Given the description of an element on the screen output the (x, y) to click on. 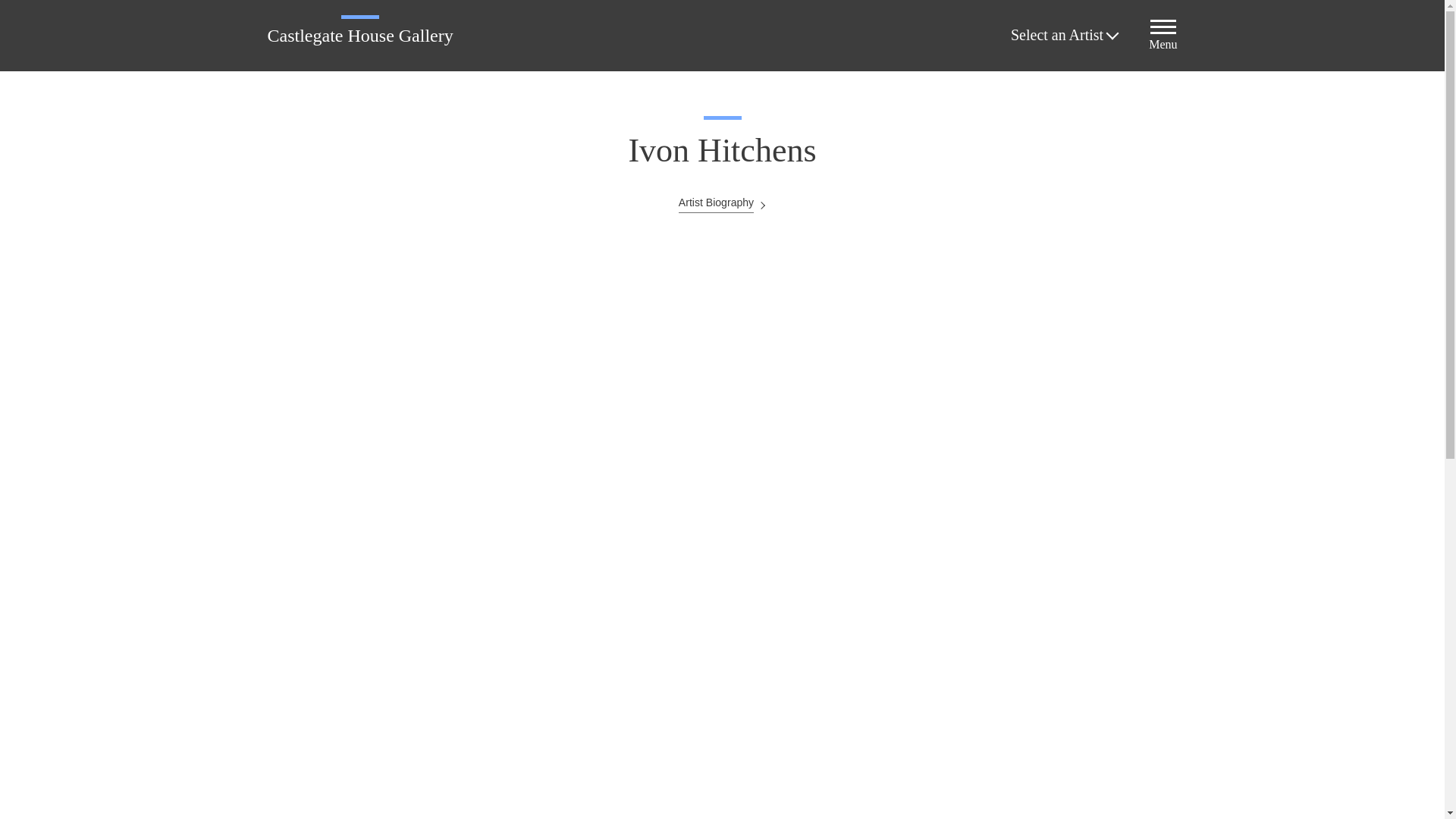
Castlegate House Gallery (359, 35)
Select an Artist (1063, 35)
